Given the description of an element on the screen output the (x, y) to click on. 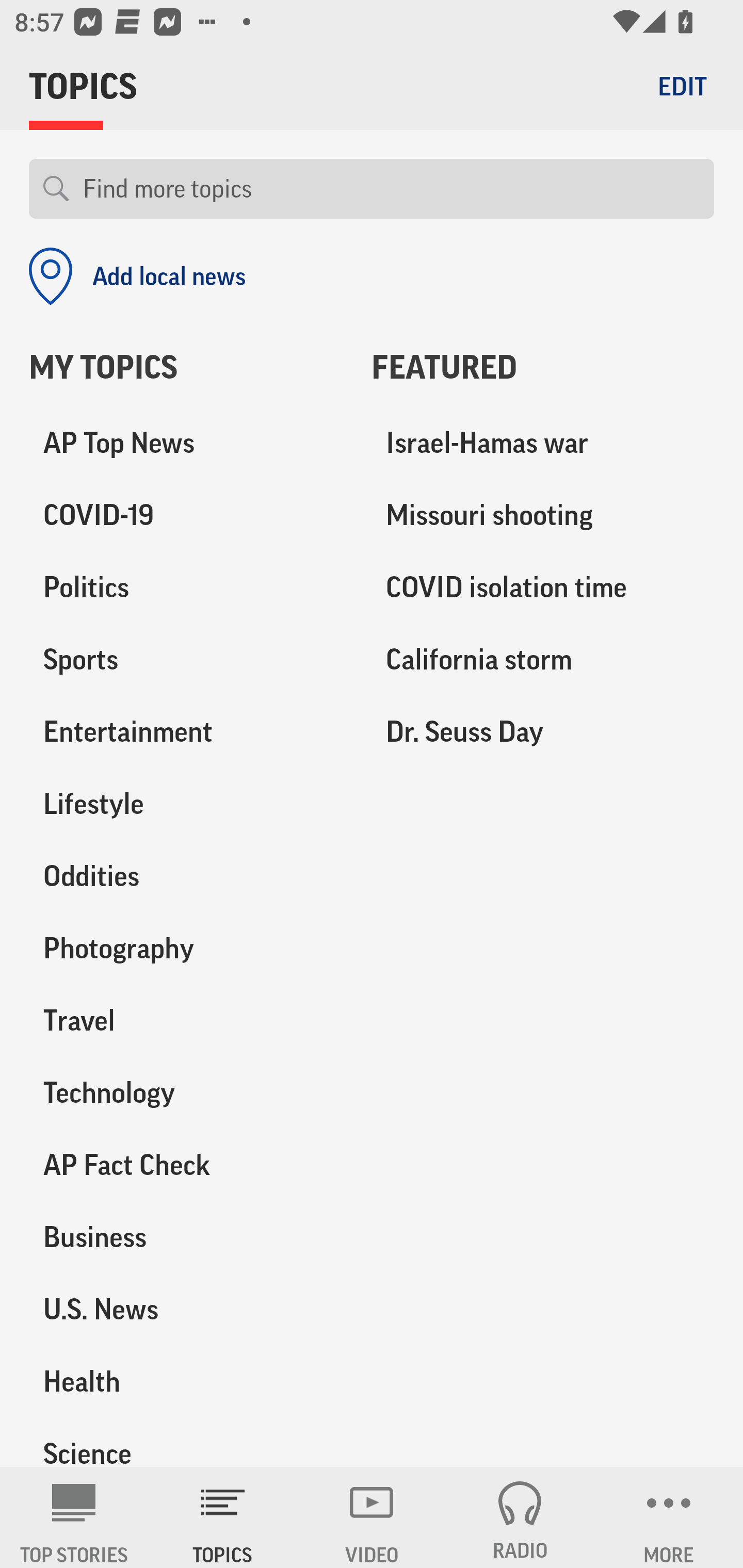
EDIT (682, 86)
Find more topics (391, 188)
Add local news (137, 276)
AP Top News (185, 443)
Israel-Hamas war (542, 443)
COVID-19 (185, 515)
Missouri shooting (542, 515)
Politics (185, 587)
COVID isolation time (542, 587)
Sports (185, 660)
California storm (542, 660)
Entertainment (185, 732)
Dr. Seuss Day (542, 732)
Lifestyle (185, 804)
Oddities (185, 876)
Photography (185, 948)
Travel (185, 1020)
Technology (185, 1092)
AP Fact Check (185, 1164)
Business (185, 1237)
U.S. News (185, 1309)
Health (185, 1381)
Science (185, 1442)
AP News TOP STORIES (74, 1517)
TOPICS (222, 1517)
VIDEO (371, 1517)
RADIO (519, 1517)
MORE (668, 1517)
